Given the description of an element on the screen output the (x, y) to click on. 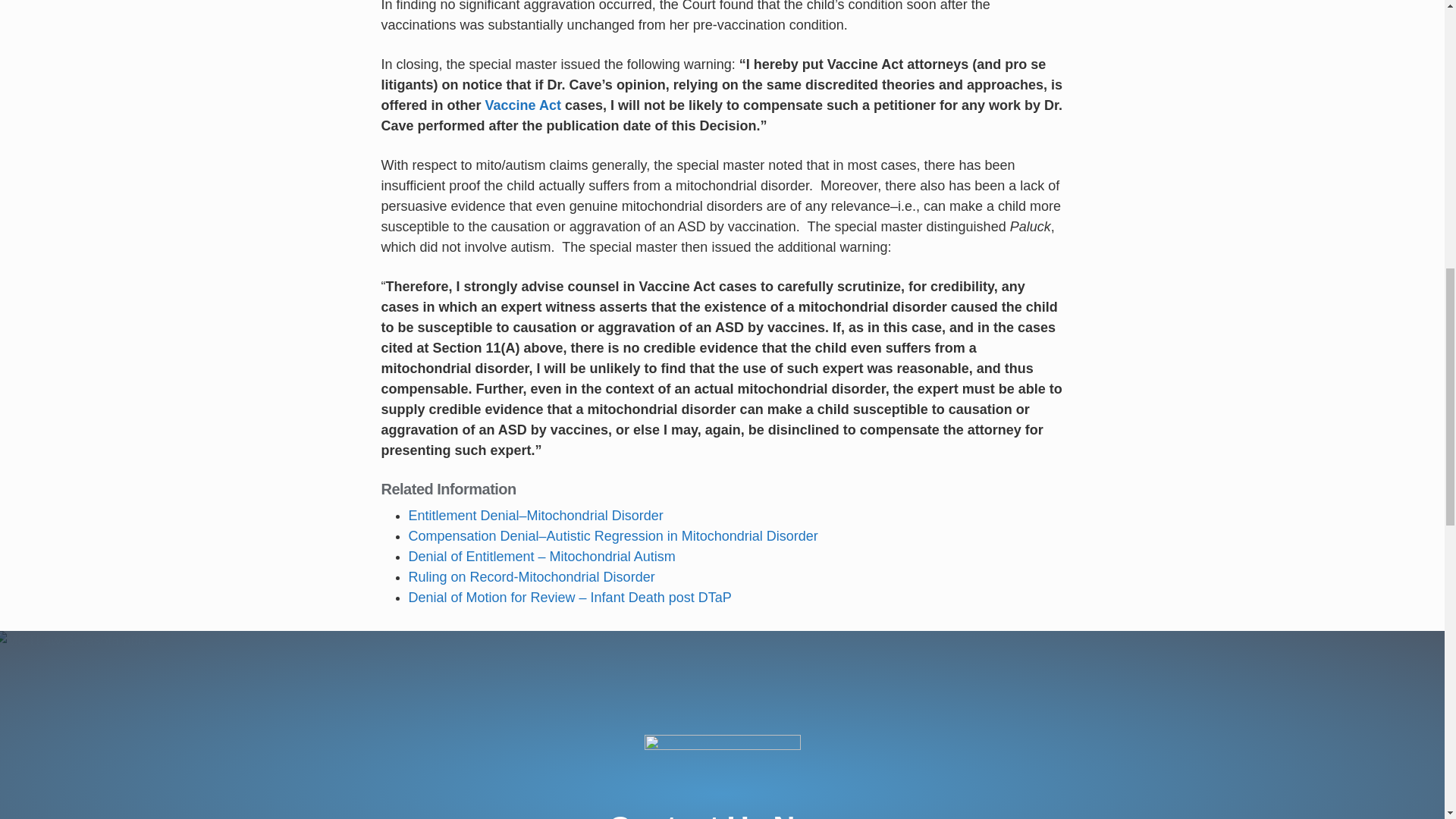
Ruling on Record-Mitochondrial Disorder (530, 576)
Vaccine Act (522, 105)
